Given the description of an element on the screen output the (x, y) to click on. 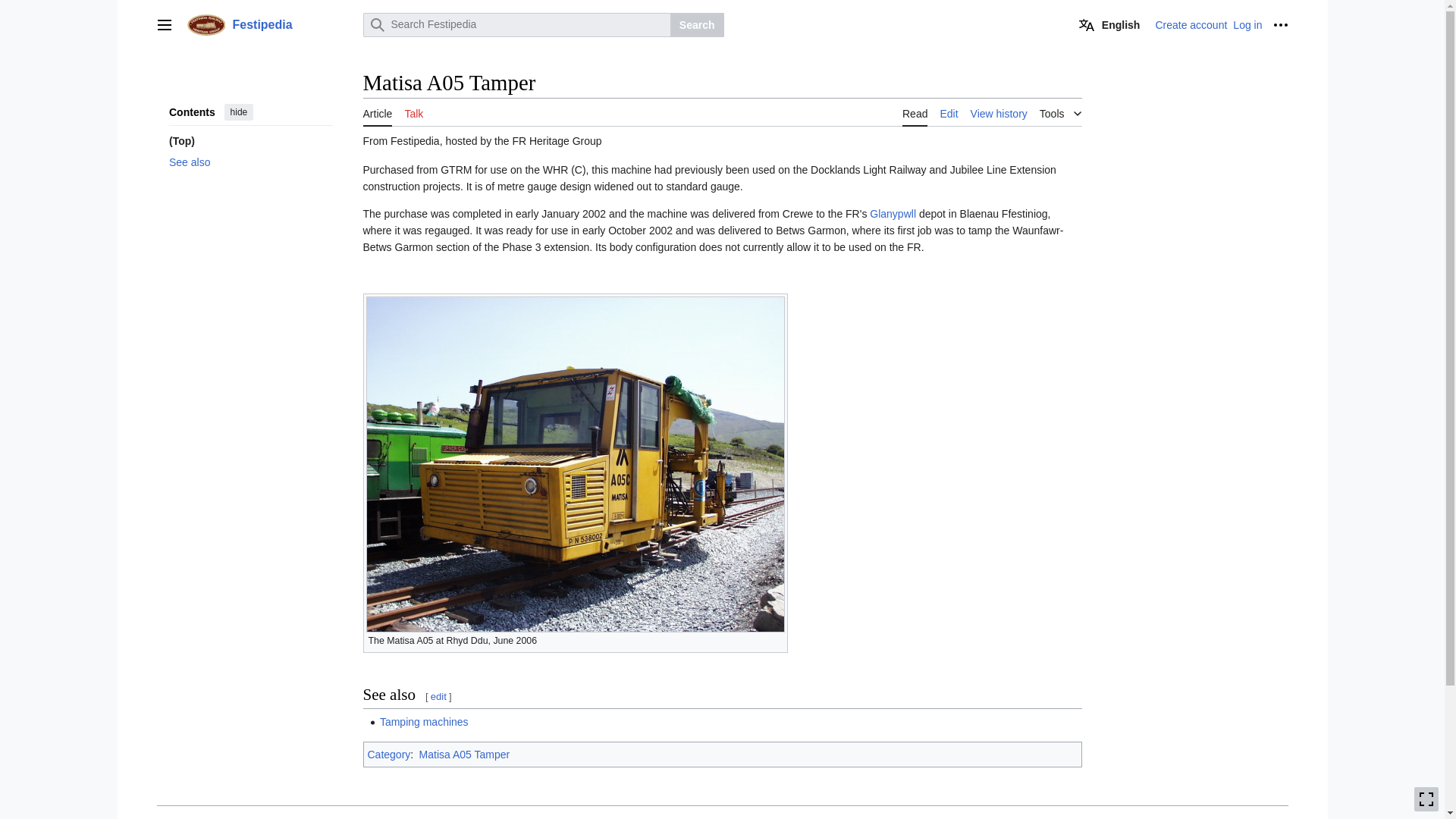
Log in (1247, 24)
Read (914, 112)
hide (238, 112)
Create account (1190, 24)
See also (249, 161)
Log in and more options (1280, 24)
Article (376, 112)
Festipedia (270, 24)
View history (999, 112)
English (1110, 24)
Search (696, 24)
